Given the description of an element on the screen output the (x, y) to click on. 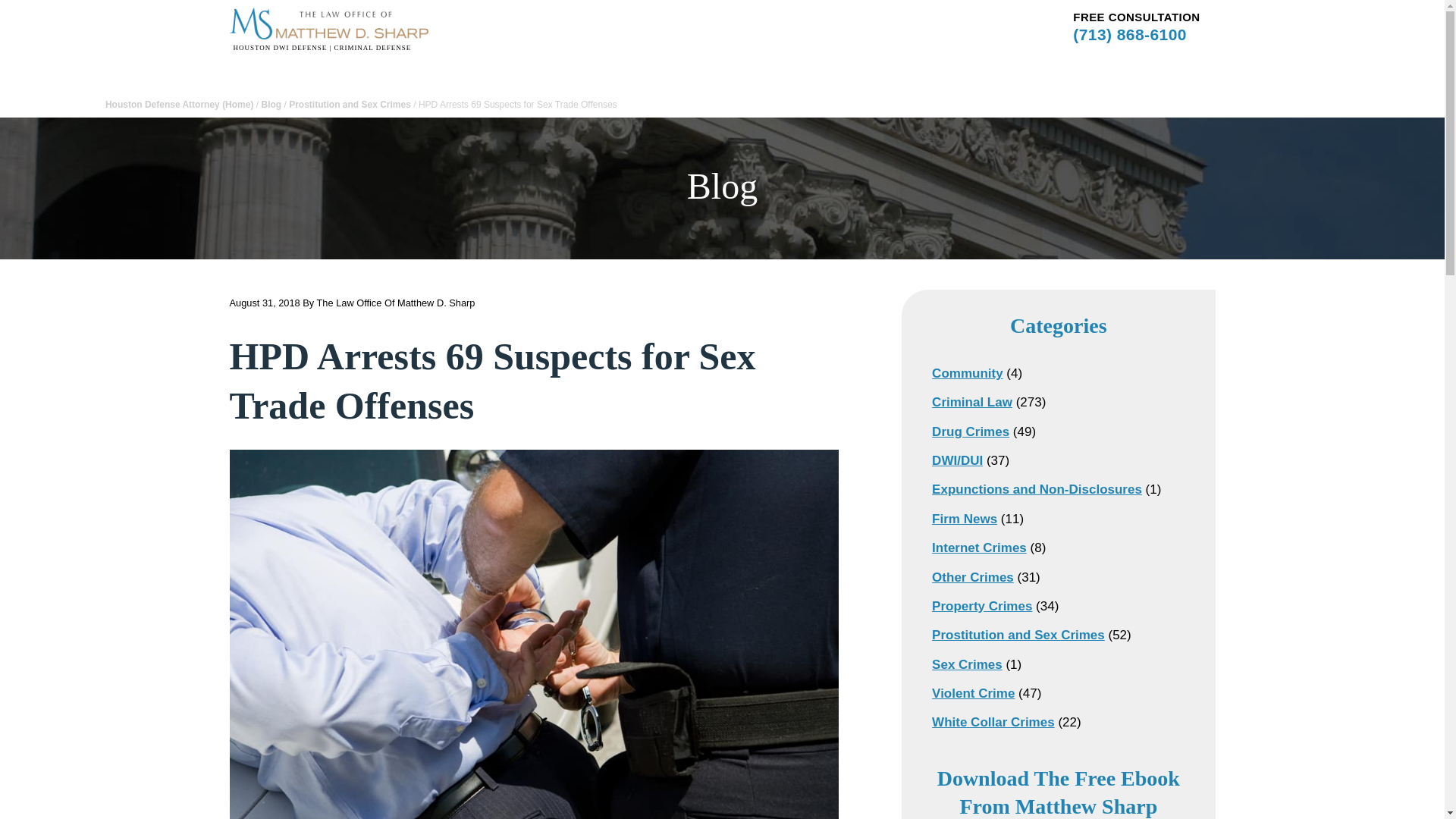
Your Attorney (567, 15)
Resources (828, 15)
Prostitution and Sex Crimes (349, 104)
Practice Areas (654, 15)
Blog (270, 104)
Contact (891, 15)
Case Results (746, 15)
